Given the description of an element on the screen output the (x, y) to click on. 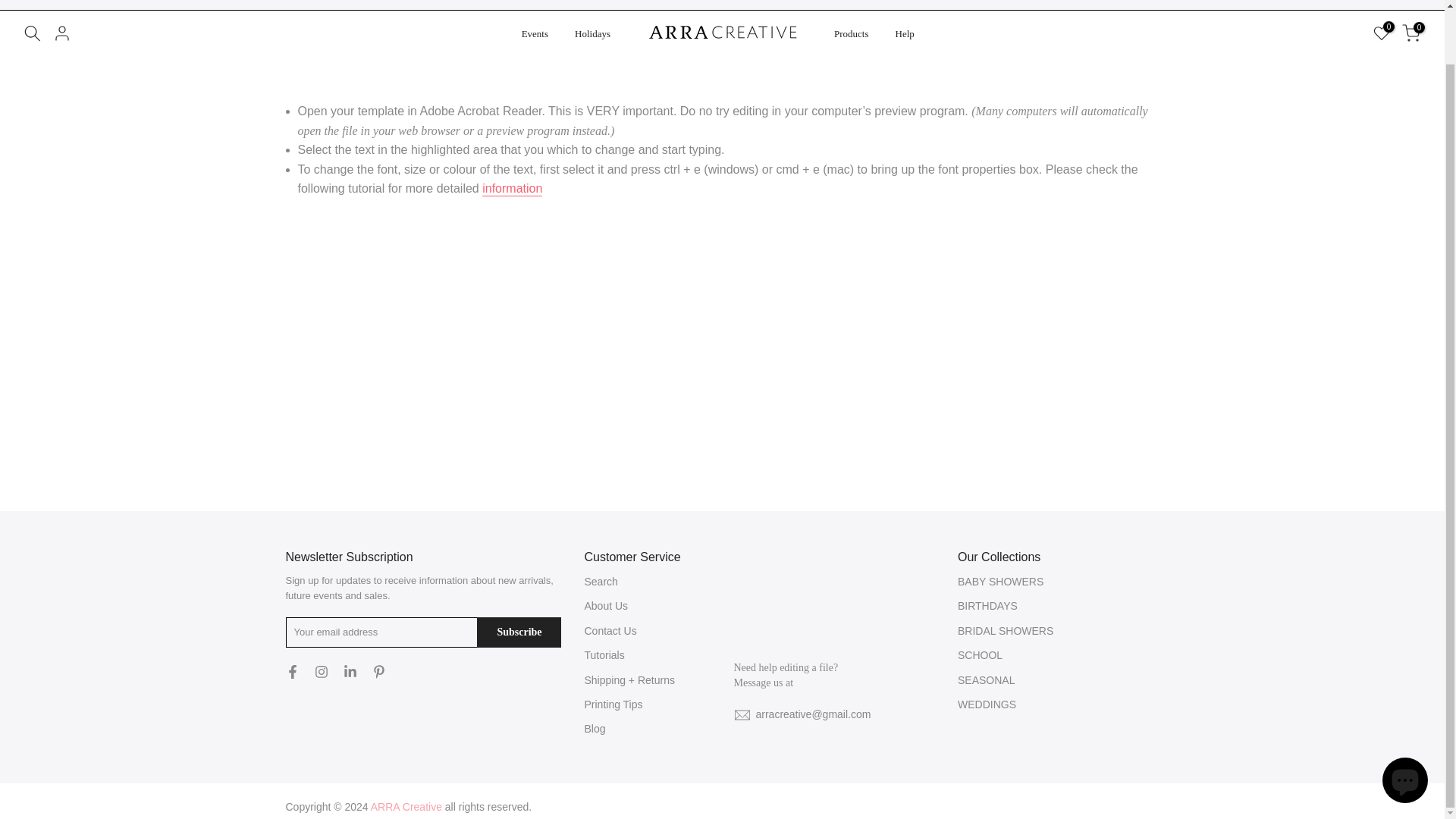
Follow on Facebook (24, 1)
Shopify online store chat (1404, 723)
